Given the description of an element on the screen output the (x, y) to click on. 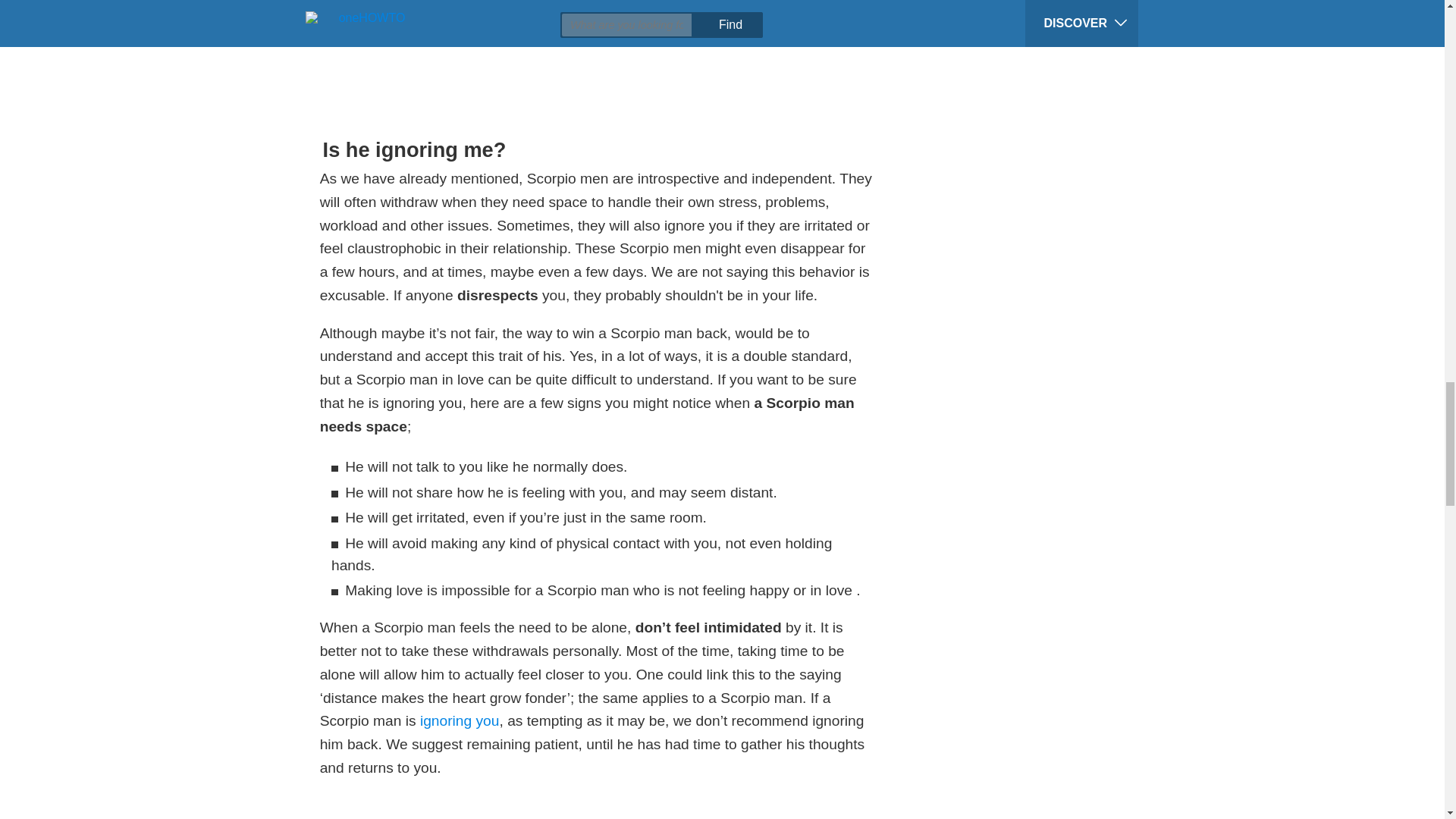
ignoring you (459, 720)
